Given the description of an element on the screen output the (x, y) to click on. 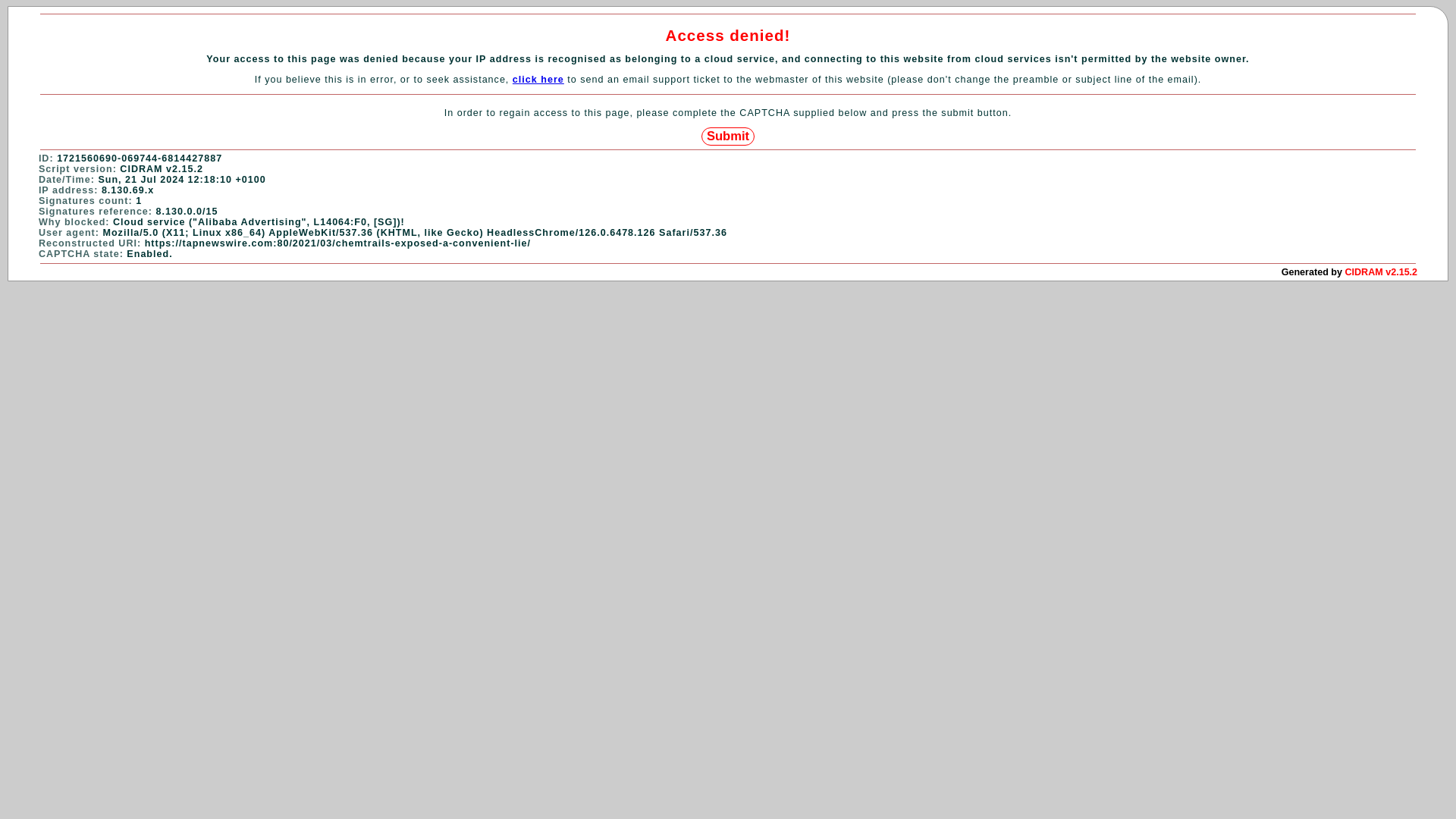
click here (538, 79)
Submit (727, 136)
Submit (727, 136)
